Given the description of an element on the screen output the (x, y) to click on. 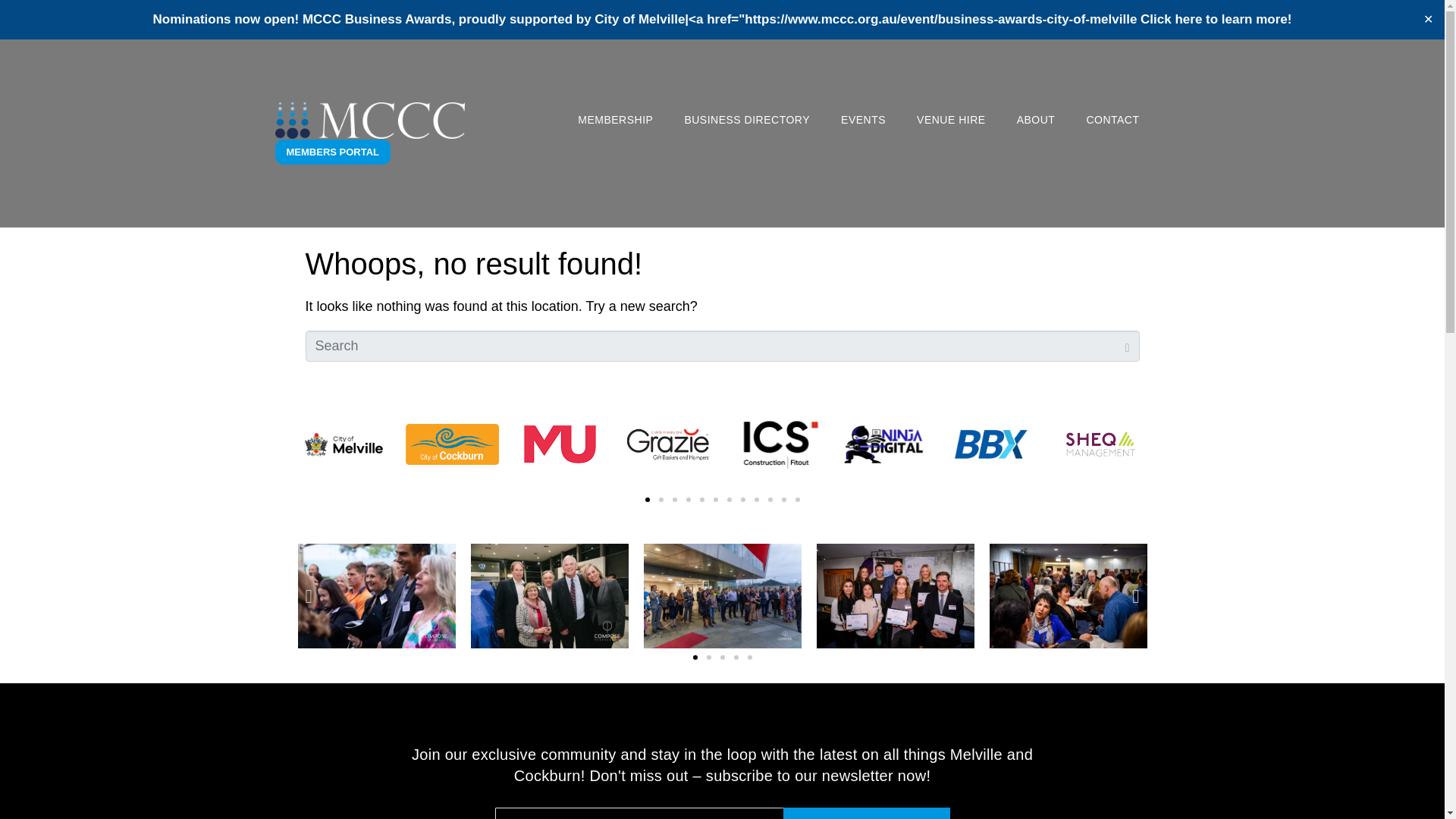
MEMBERS PORTAL (332, 151)
MEMBERSHIP (615, 120)
VENUE HIRE (951, 120)
BUSINESS DIRECTORY (746, 120)
ABOUT (1035, 120)
SUBSCRIBE (866, 813)
CONTACT (1112, 120)
EVENTS (863, 120)
